Given the description of an element on the screen output the (x, y) to click on. 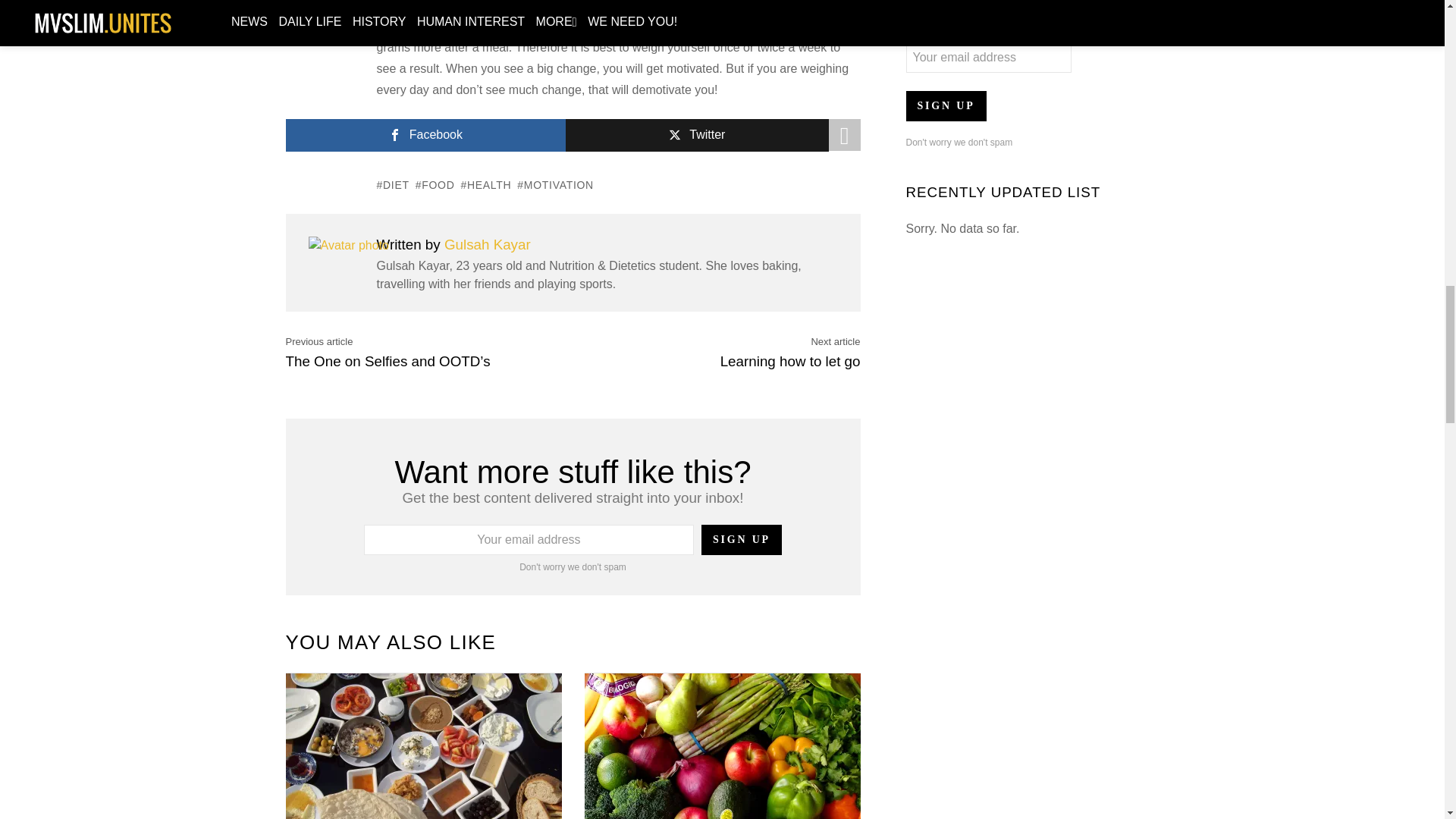
Gulsah Kayar (487, 244)
HEALTH (485, 185)
FOOD (434, 185)
Facebook (425, 134)
Sign up (945, 105)
MOTIVATION (555, 185)
Twitter (697, 134)
Sign up (741, 539)
DIET (392, 185)
